Given the description of an element on the screen output the (x, y) to click on. 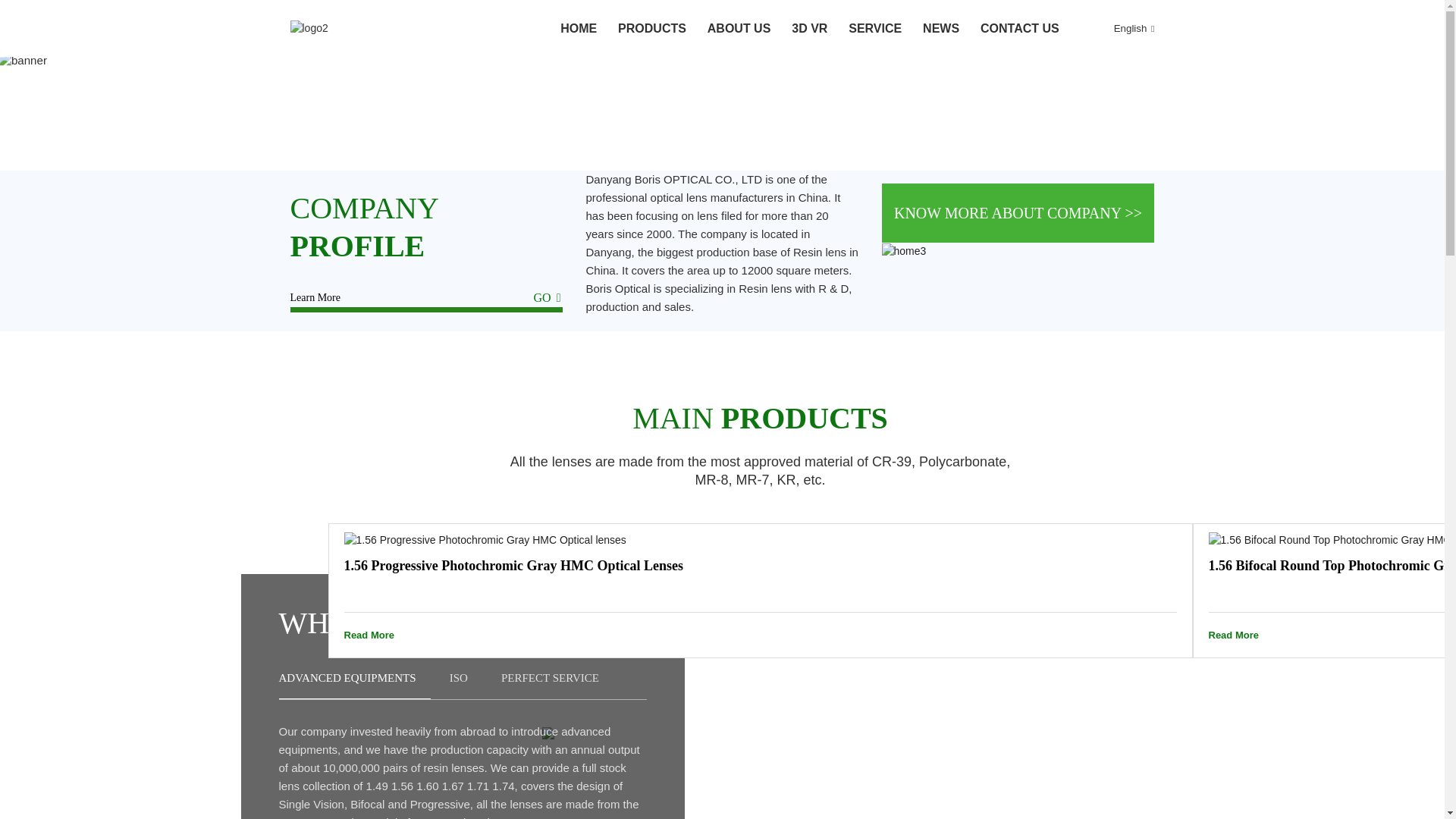
PRODUCTS (651, 28)
HOME (578, 28)
